Given the description of an element on the screen output the (x, y) to click on. 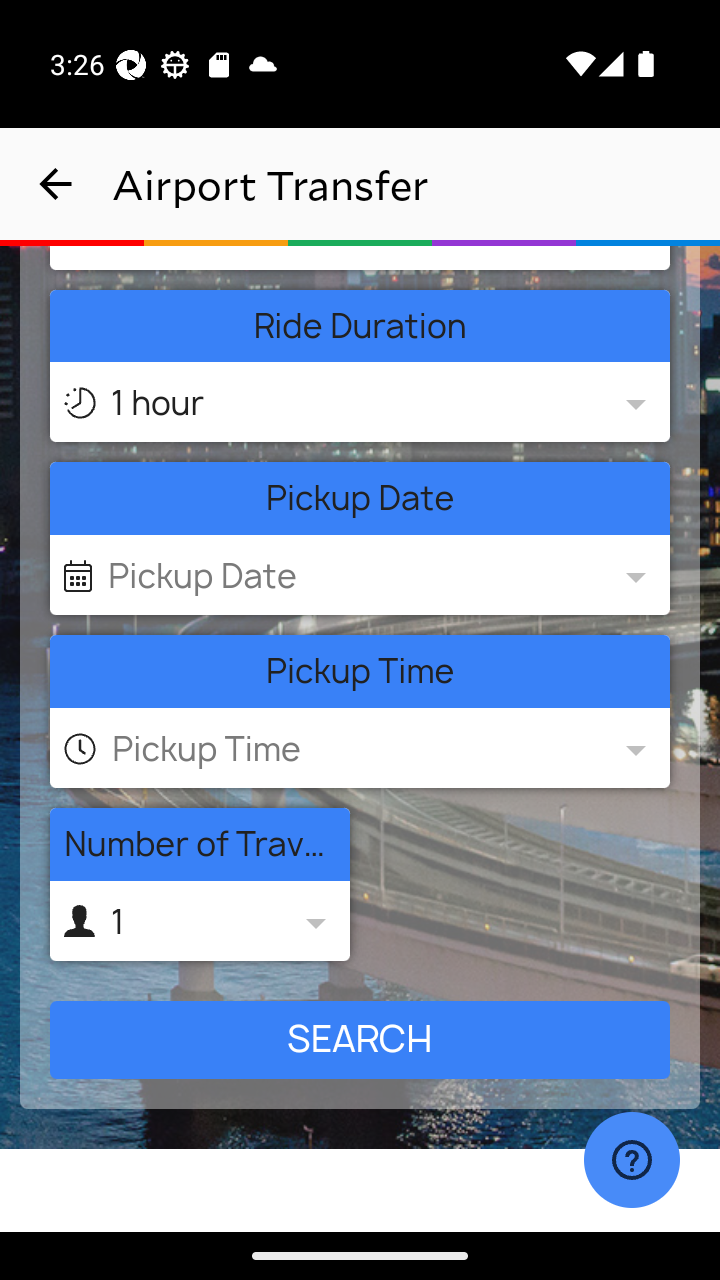
navigation_button (56, 184)
1 hour (355, 403)
1 (199, 921)
SEARCH (359, 1039)
Opens a widget where you can find more information (631, 1162)
